Given the description of an element on the screen output the (x, y) to click on. 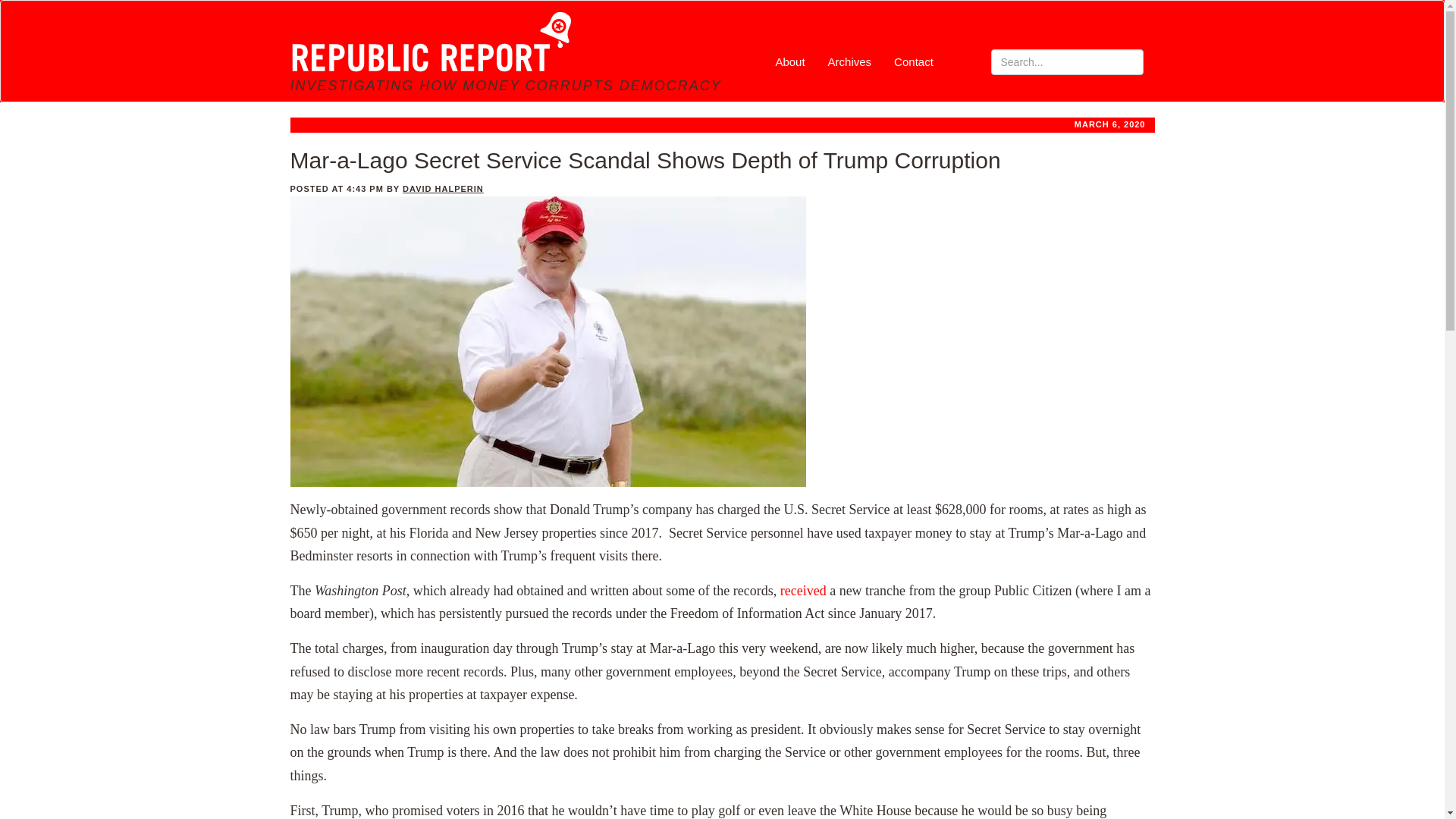
Archives (849, 61)
Posts by David Halperin (443, 188)
received (803, 590)
DAVID HALPERIN (443, 188)
About (788, 61)
Contact (913, 61)
